Given the description of an element on the screen output the (x, y) to click on. 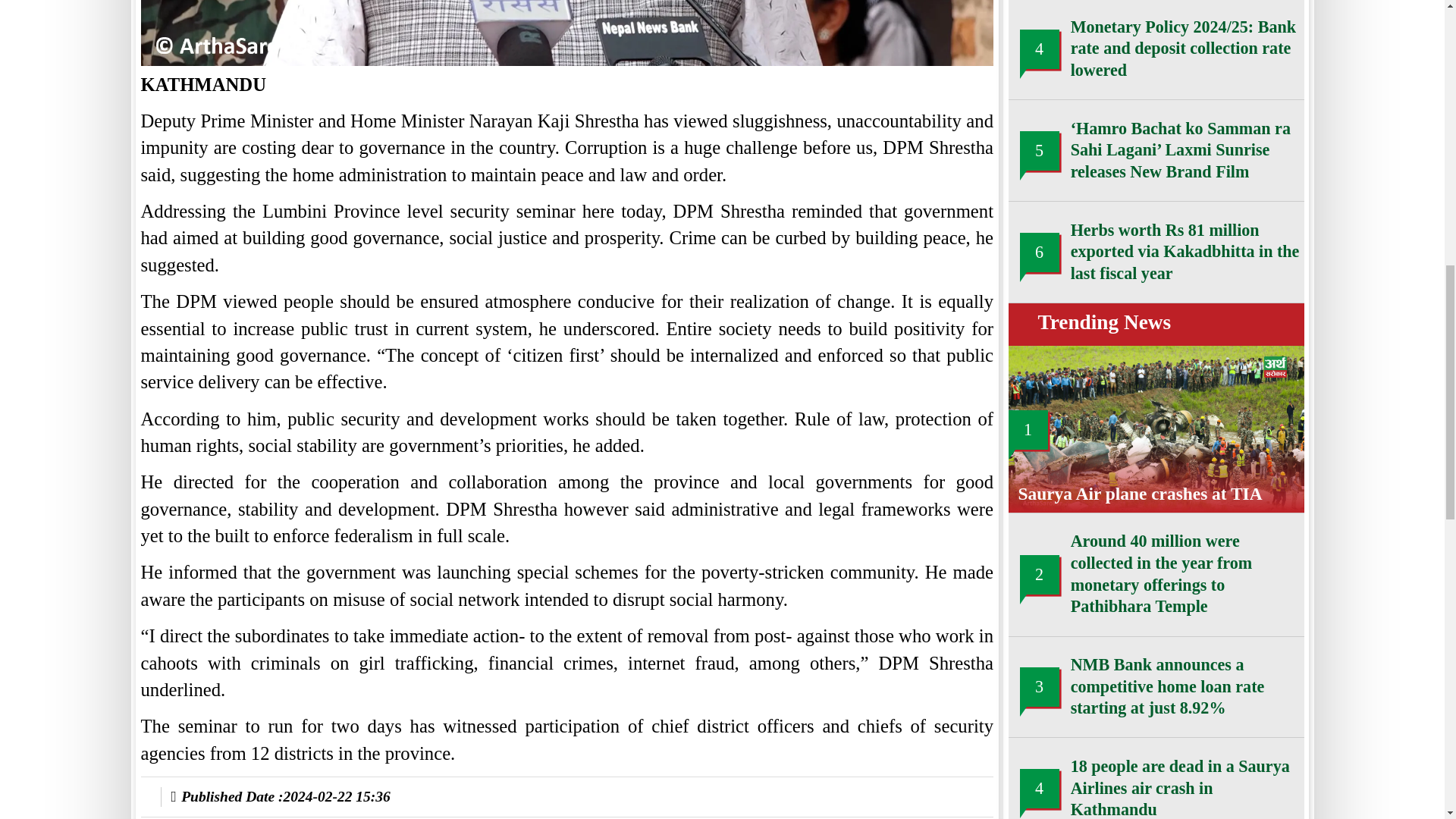
Comment your feedback: (201, 458)
Saurya Air plane crashes at TIA (877, 190)
Trending News (845, 59)
